Given the description of an element on the screen output the (x, y) to click on. 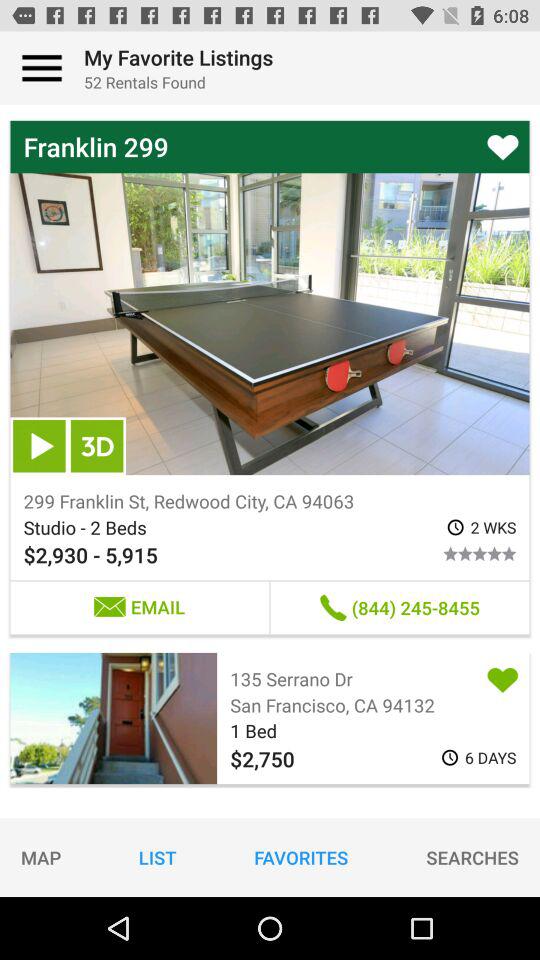
turn off the icon next to list (301, 857)
